Given the description of an element on the screen output the (x, y) to click on. 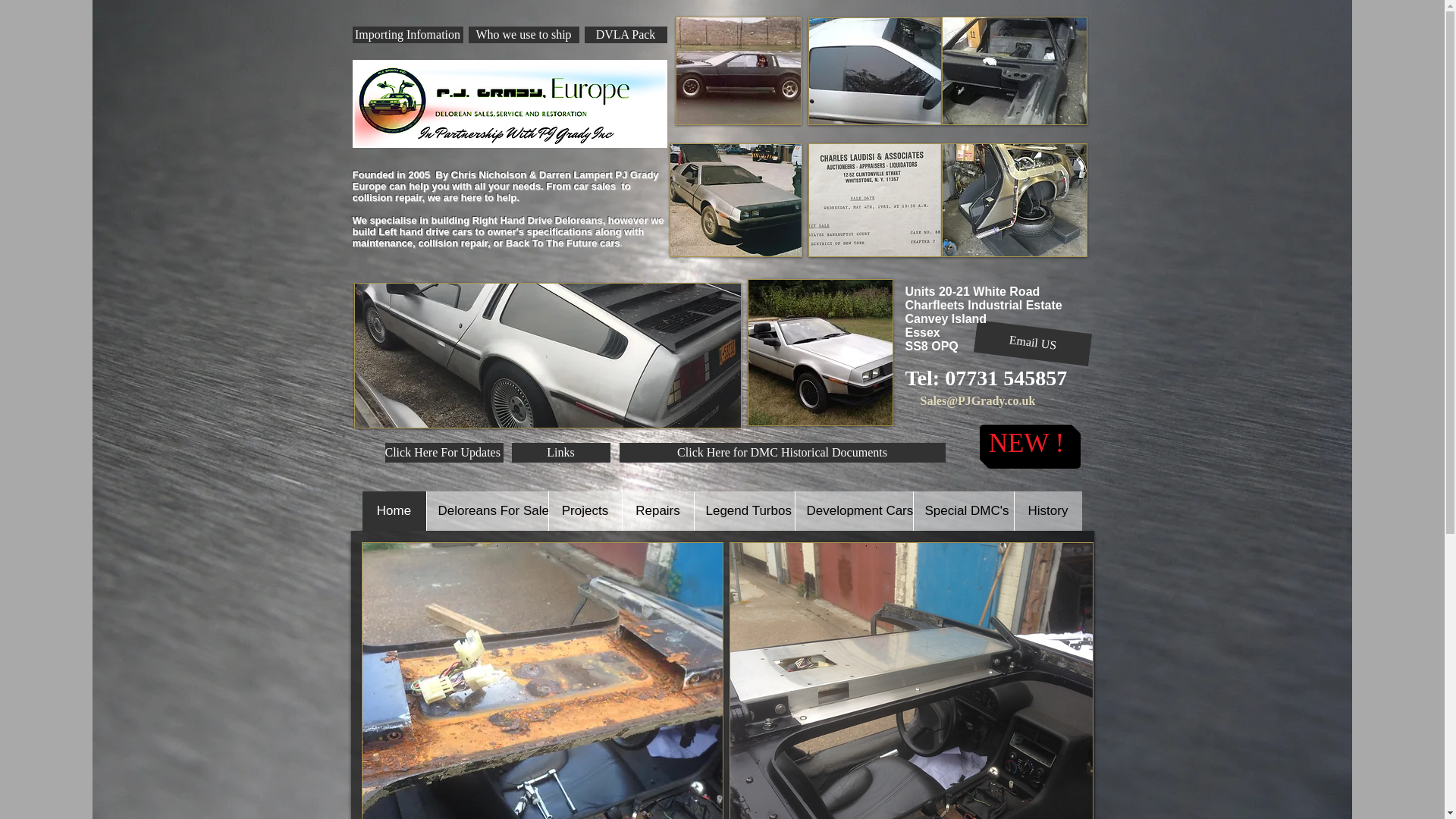
Home (394, 510)
Repairs (657, 510)
Projects (584, 510)
DVLA Pack (624, 34)
NEW ! (1026, 443)
PJ Grady Europe (509, 103)
Click Here For Updates (444, 452)
Deloreans For Sale (487, 510)
Email US (1029, 336)
Who we use to ship (523, 34)
